Given the description of an element on the screen output the (x, y) to click on. 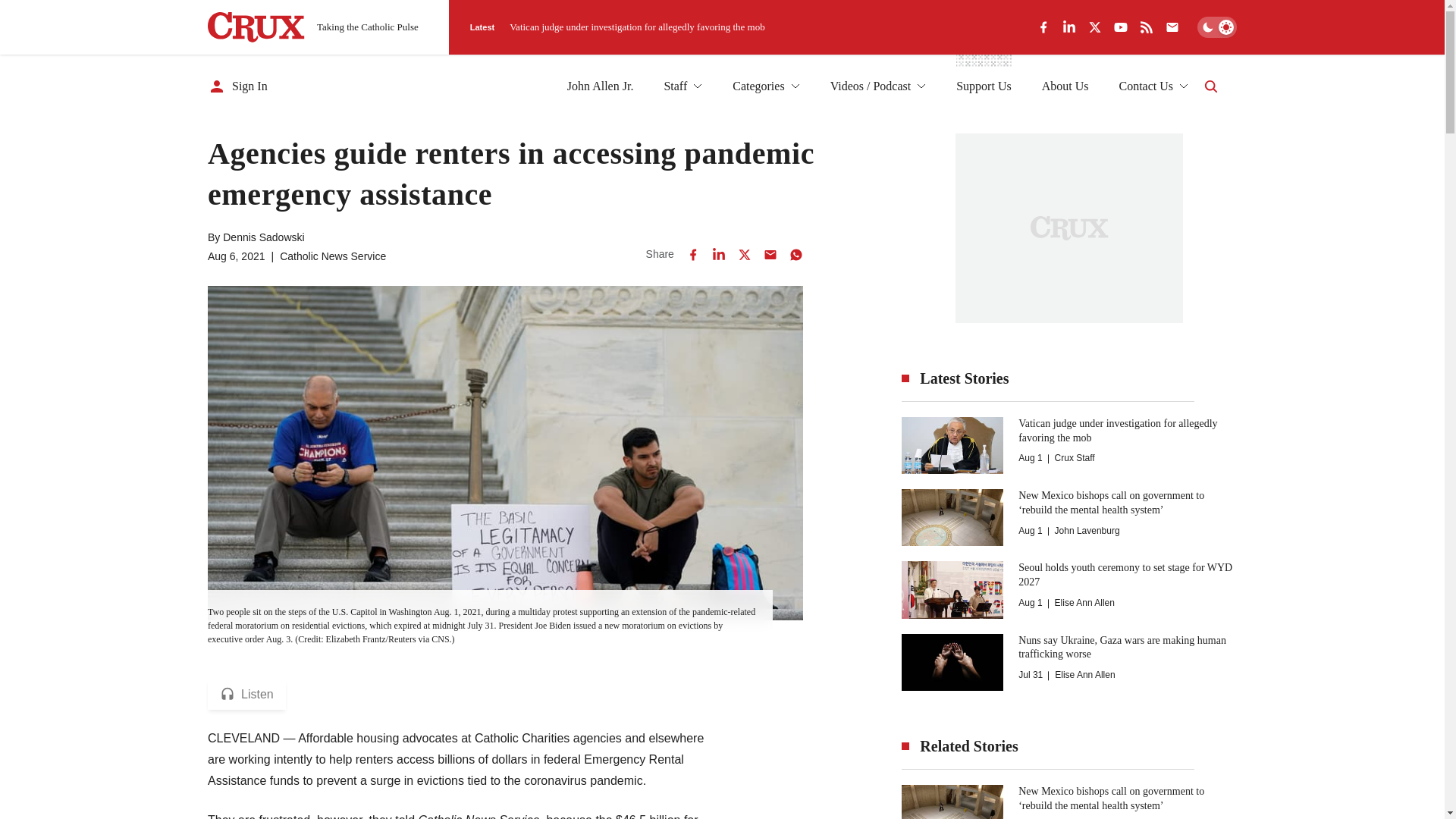
Support Us (983, 85)
true (559, 749)
Privacy Policy (711, 749)
Categories (765, 85)
Sign In (237, 85)
Subscribe (1037, 756)
John Allen Jr. (600, 85)
Staff (682, 85)
